Given the description of an element on the screen output the (x, y) to click on. 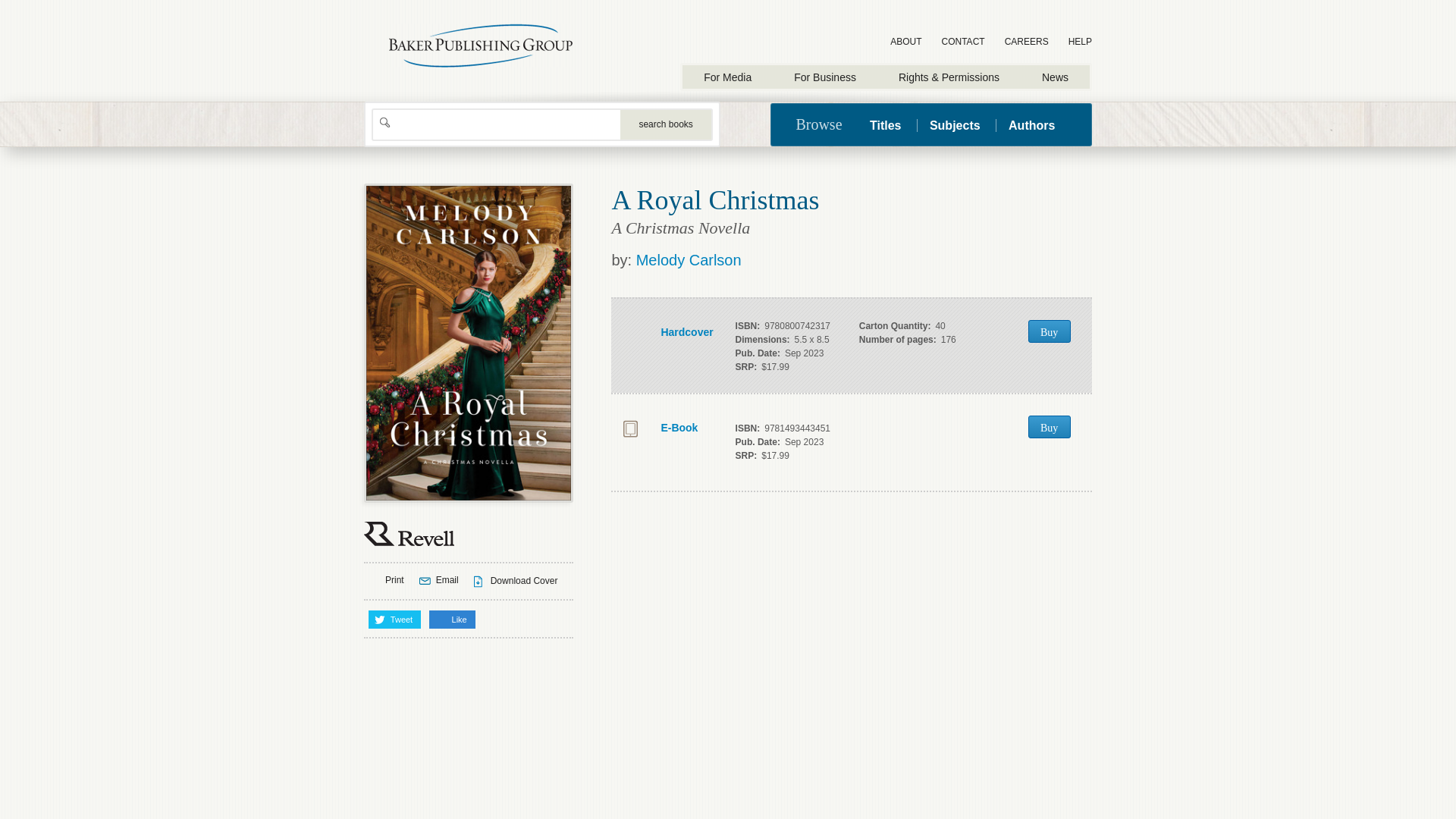
Authors (1031, 124)
Buy (1048, 331)
Subjects (954, 124)
Search Books (665, 124)
Melody Carlson (688, 259)
Hardcover (665, 332)
For Business (825, 76)
CONTACT (963, 41)
For Media (727, 76)
CAREERS (1026, 41)
